Given the description of an element on the screen output the (x, y) to click on. 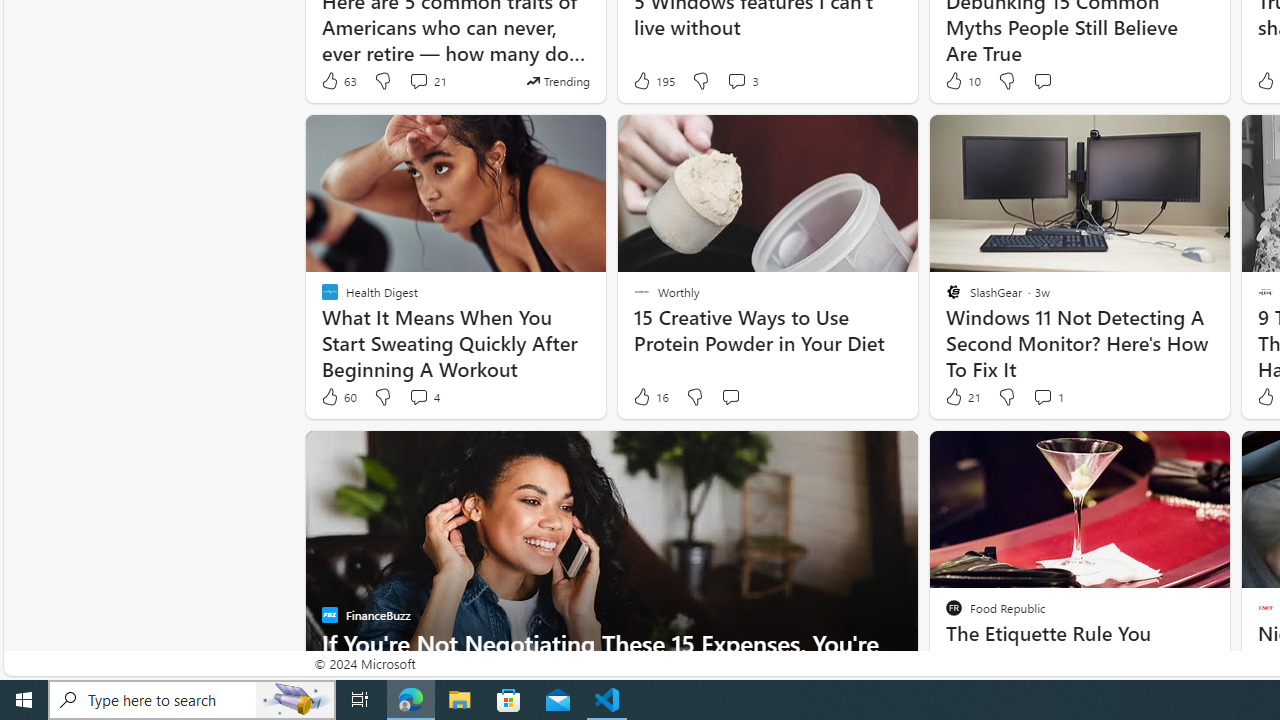
63 Like (337, 80)
View comments 21 Comment (426, 80)
60 Like (337, 397)
